Given the description of an element on the screen output the (x, y) to click on. 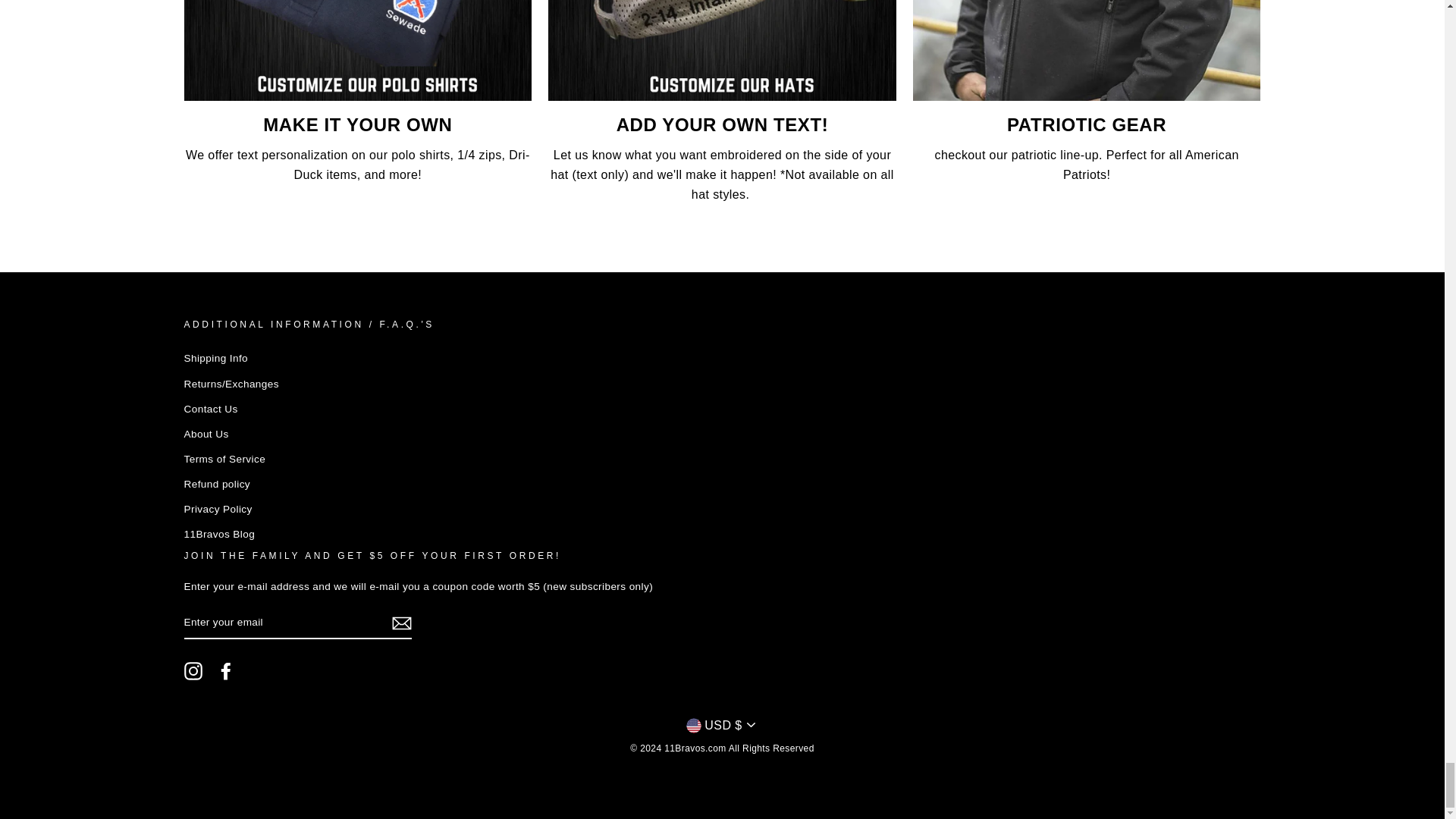
11Bravos.com on Instagram (192, 670)
